Given the description of an element on the screen output the (x, y) to click on. 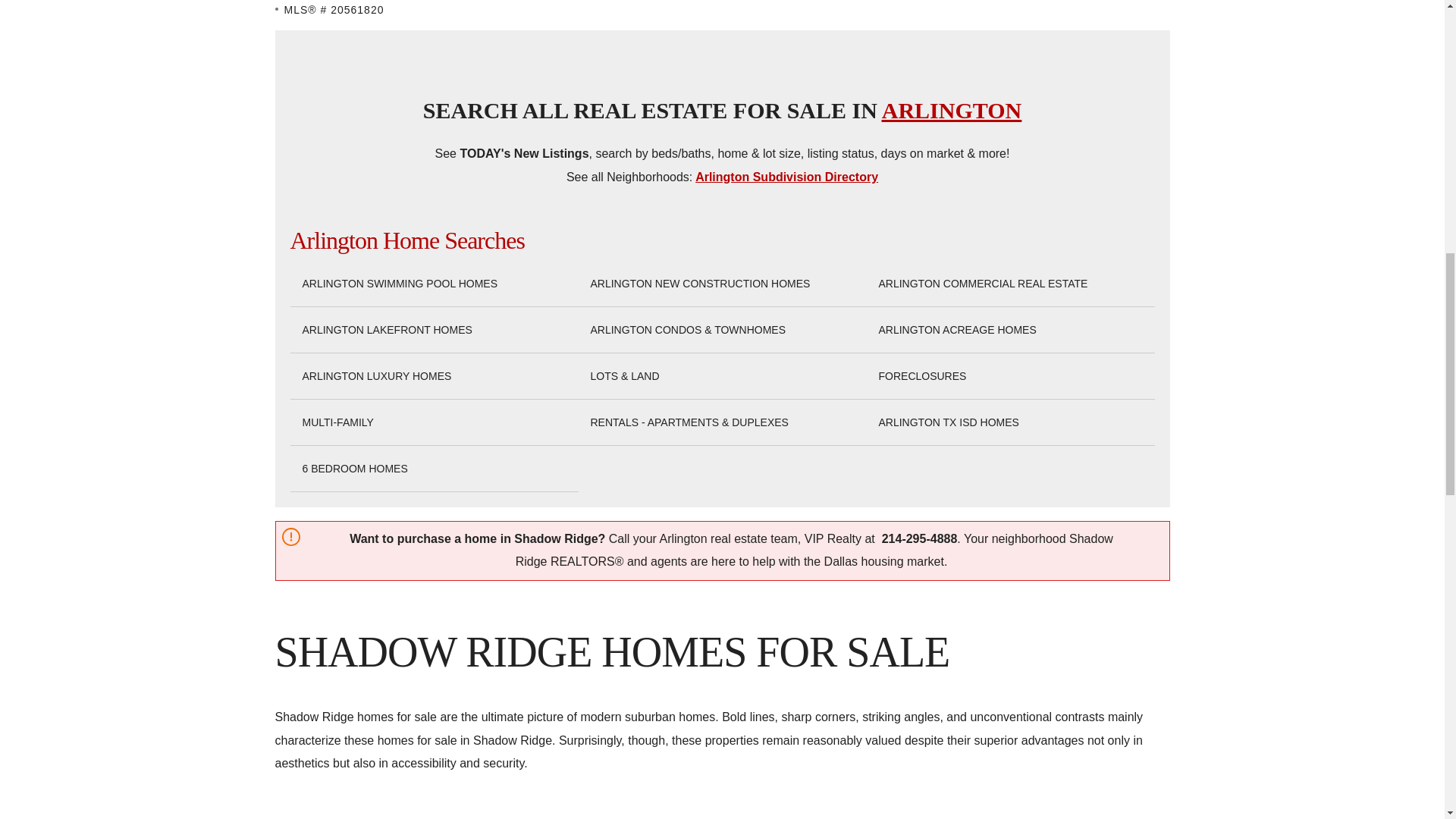
Arlington ISD (947, 422)
foreclosures (921, 376)
 Homes (688, 422)
Arlington New Construction Homes (699, 283)
Arlington Condos Townhomes (686, 330)
Arlington Lakefront Homes (386, 330)
Arlington Swimming Pool Homes (398, 283)
 Homes (354, 468)
Arlington Acreage Homes (956, 330)
Arlington Luxury Homes (376, 376)
